Given the description of an element on the screen output the (x, y) to click on. 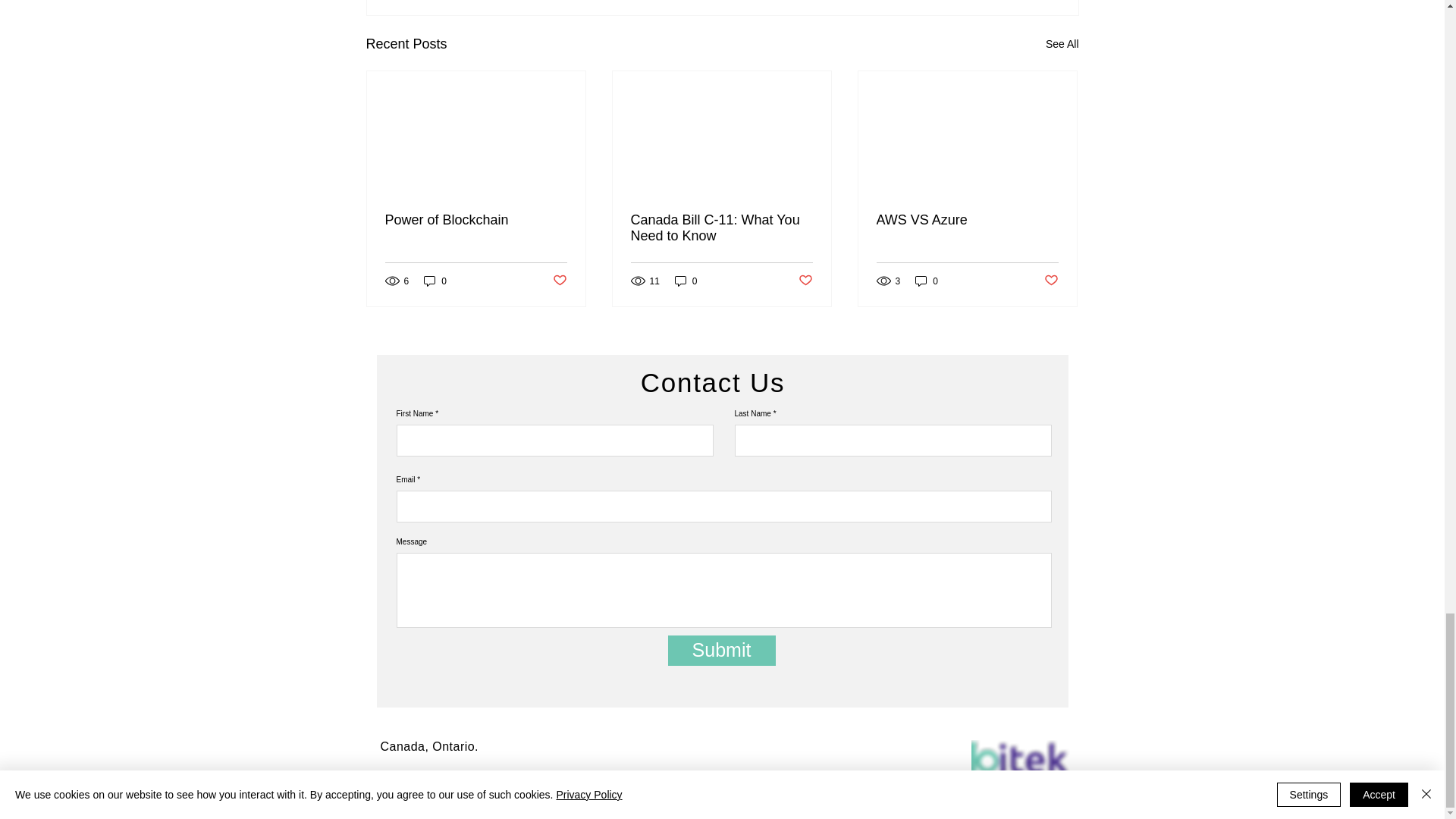
Power of Blockchain (476, 220)
0 (435, 280)
See All (1061, 44)
Post not marked as liked (558, 280)
